Given the description of an element on the screen output the (x, y) to click on. 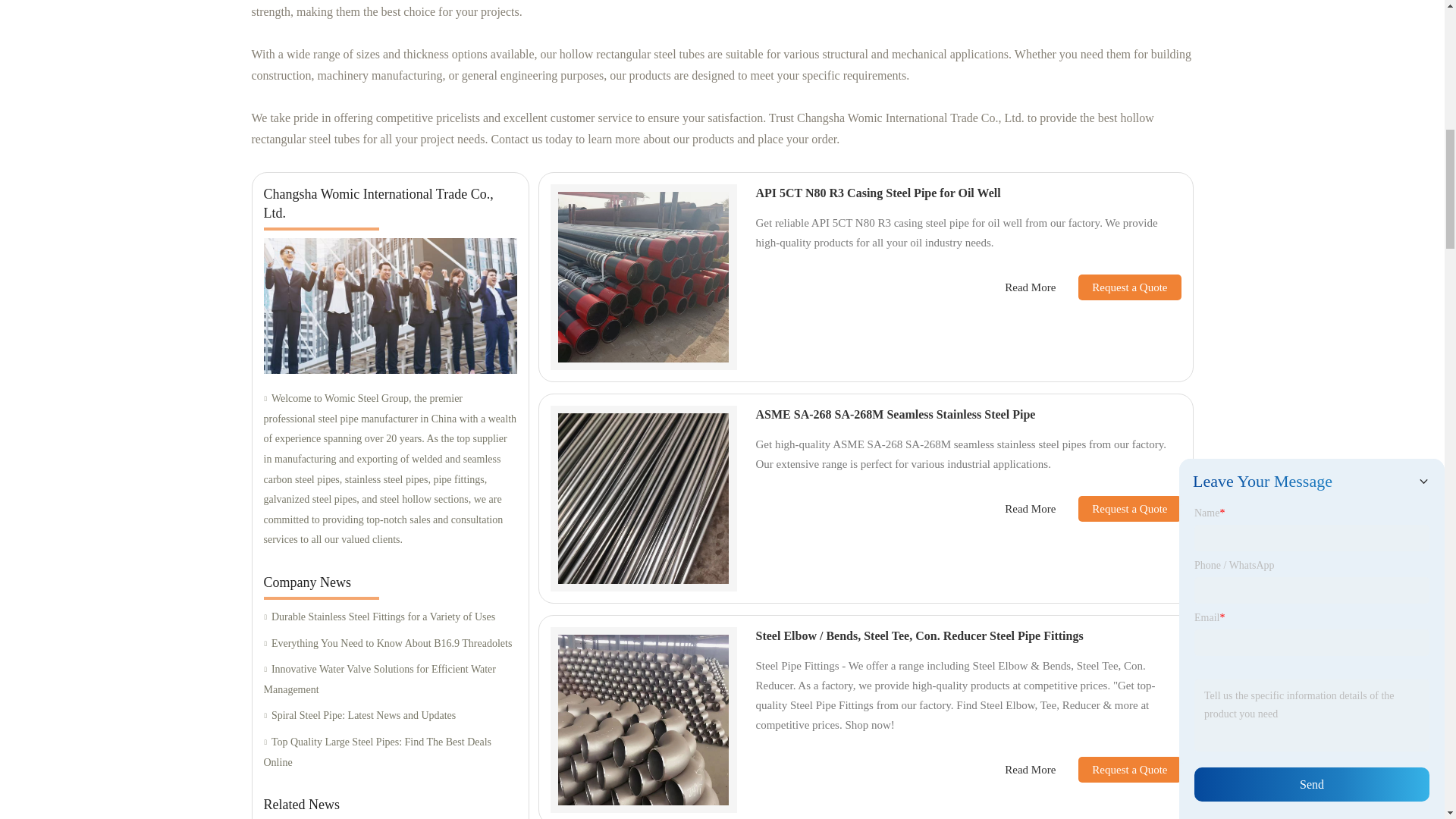
Request a Quote (1117, 287)
Everything You Need to Know About B16.9 Threadolets (389, 643)
Read More (1029, 769)
ASME SA-268 SA-268M Seamless Stainless Steel Pipe (895, 413)
Read More (1029, 287)
Request a Quote (1117, 769)
API 5CT N80 R3 Casing Steel Pipe for Oil Well (877, 192)
Request a Quote (1117, 508)
Durable Stainless Steel Fittings for a Variety of Uses (389, 617)
Read More (1029, 508)
Spiral Steel Pipe: Latest News and Updates (389, 715)
Top Quality Large Steel Pipes: Find The Best Deals Online (389, 752)
